Given the description of an element on the screen output the (x, y) to click on. 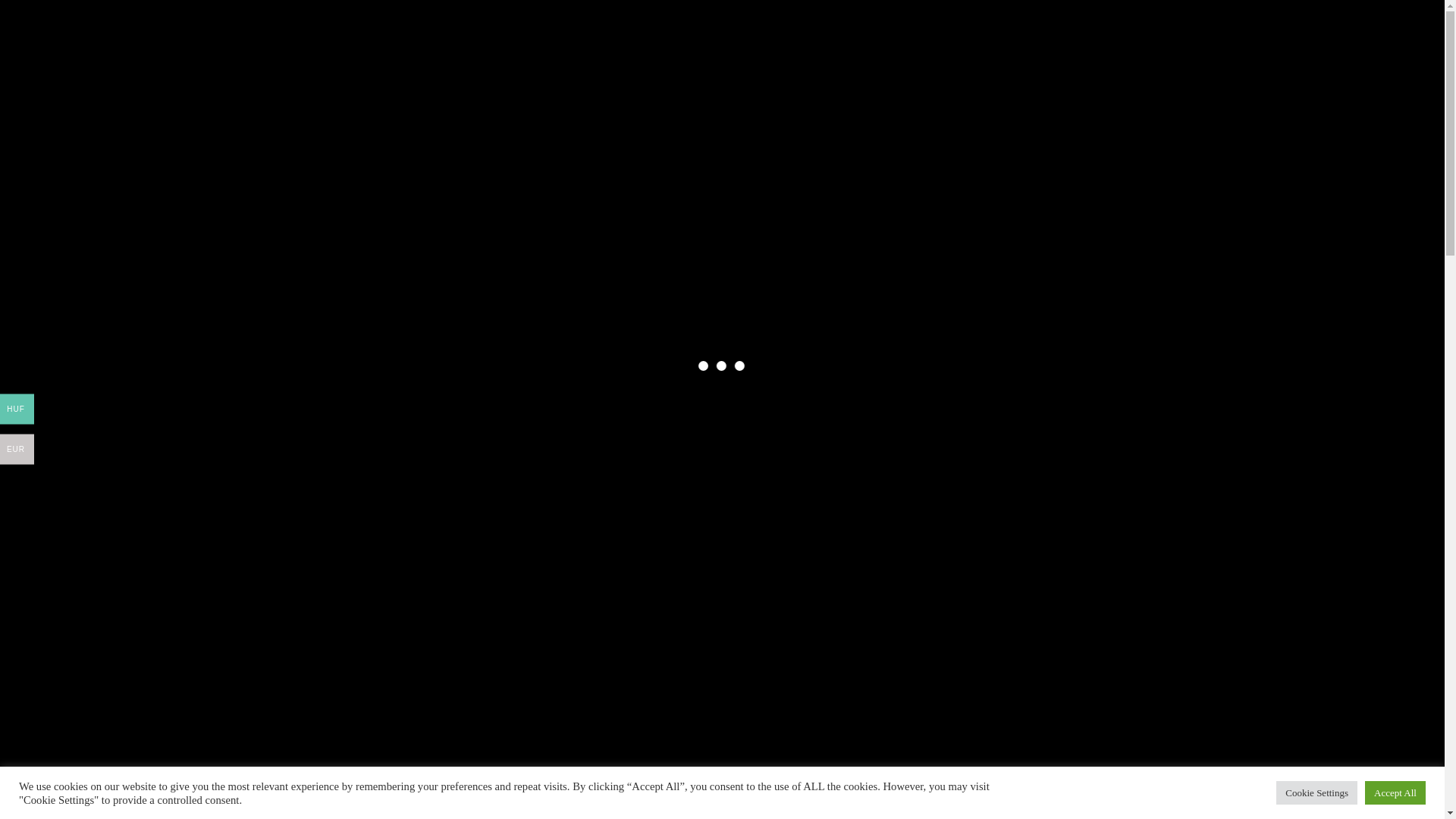
Search (833, 27)
HOME (534, 81)
INTERACTIVE ACTIVITIES (922, 81)
ABOUT US (675, 81)
MagazEnglish General (395, 220)
1 (642, 402)
Search (1113, 258)
FOR SUBSCRIBERS (777, 81)
QUIZZES (599, 81)
Add to cart (695, 399)
